Given the description of an element on the screen output the (x, y) to click on. 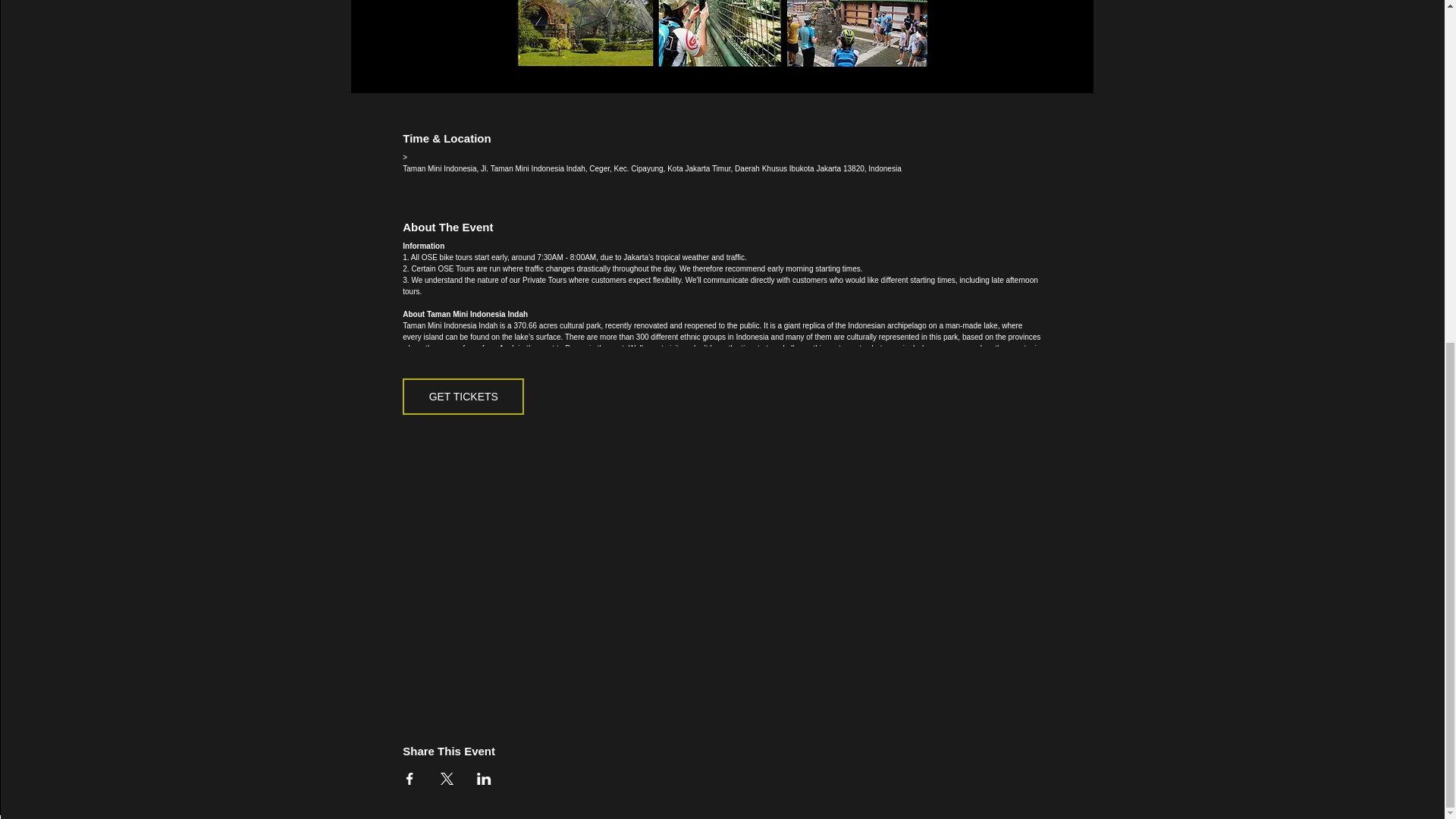
GET TICKETS (463, 396)
